Given the description of an element on the screen output the (x, y) to click on. 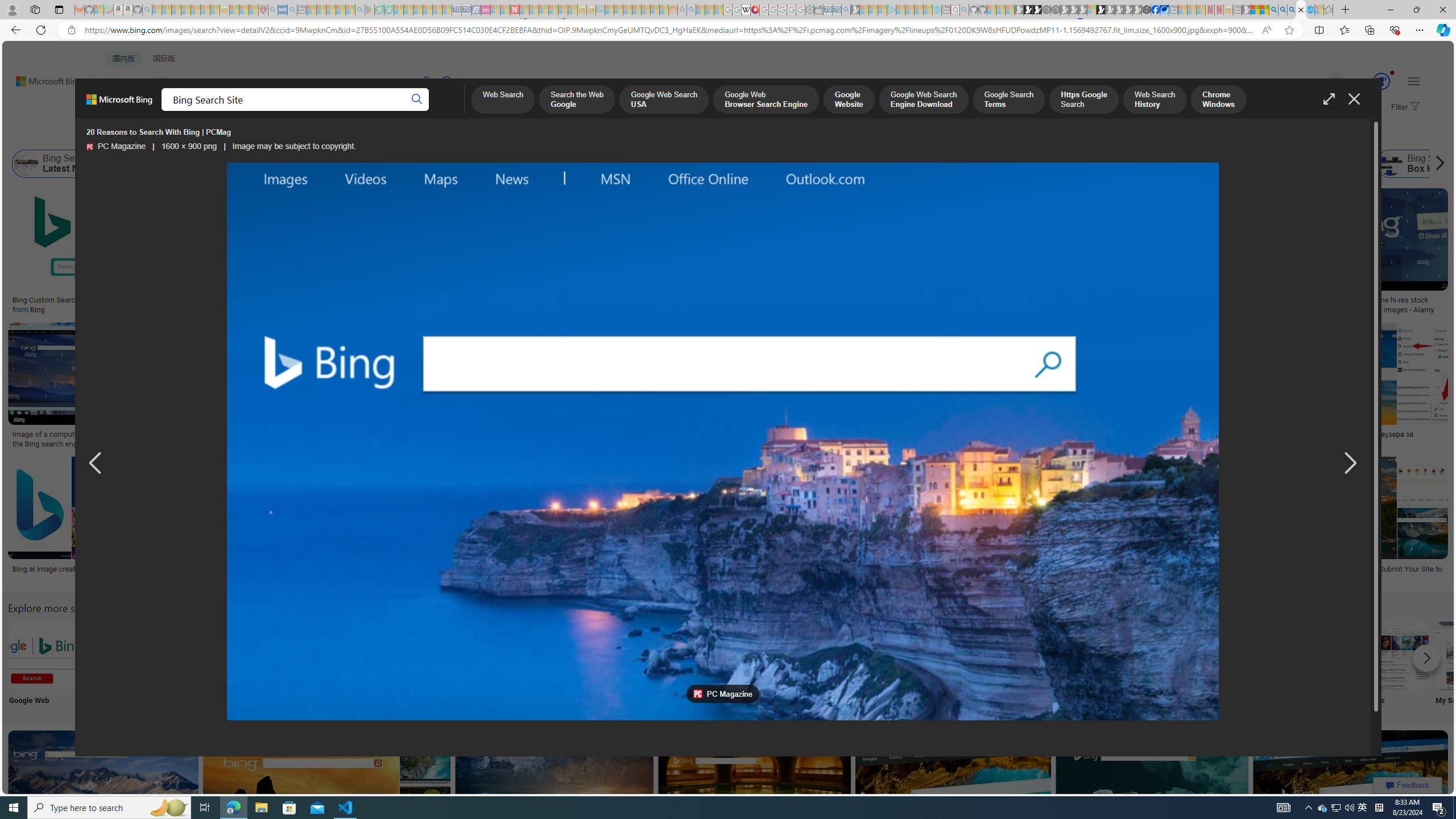
Microsoft Bing Search (679, 163)
Image size (127, 135)
Bing Search Tips (718, 654)
Google Web (42, 665)
Bing Search Engine Homepage (1149, 163)
Bing Search Tips Tips (718, 665)
Web Searching | Computer Applications for Managers (850, 573)
" Bing " search engine web page Stock Photo - Alamy (775, 438)
